Given the description of an element on the screen output the (x, y) to click on. 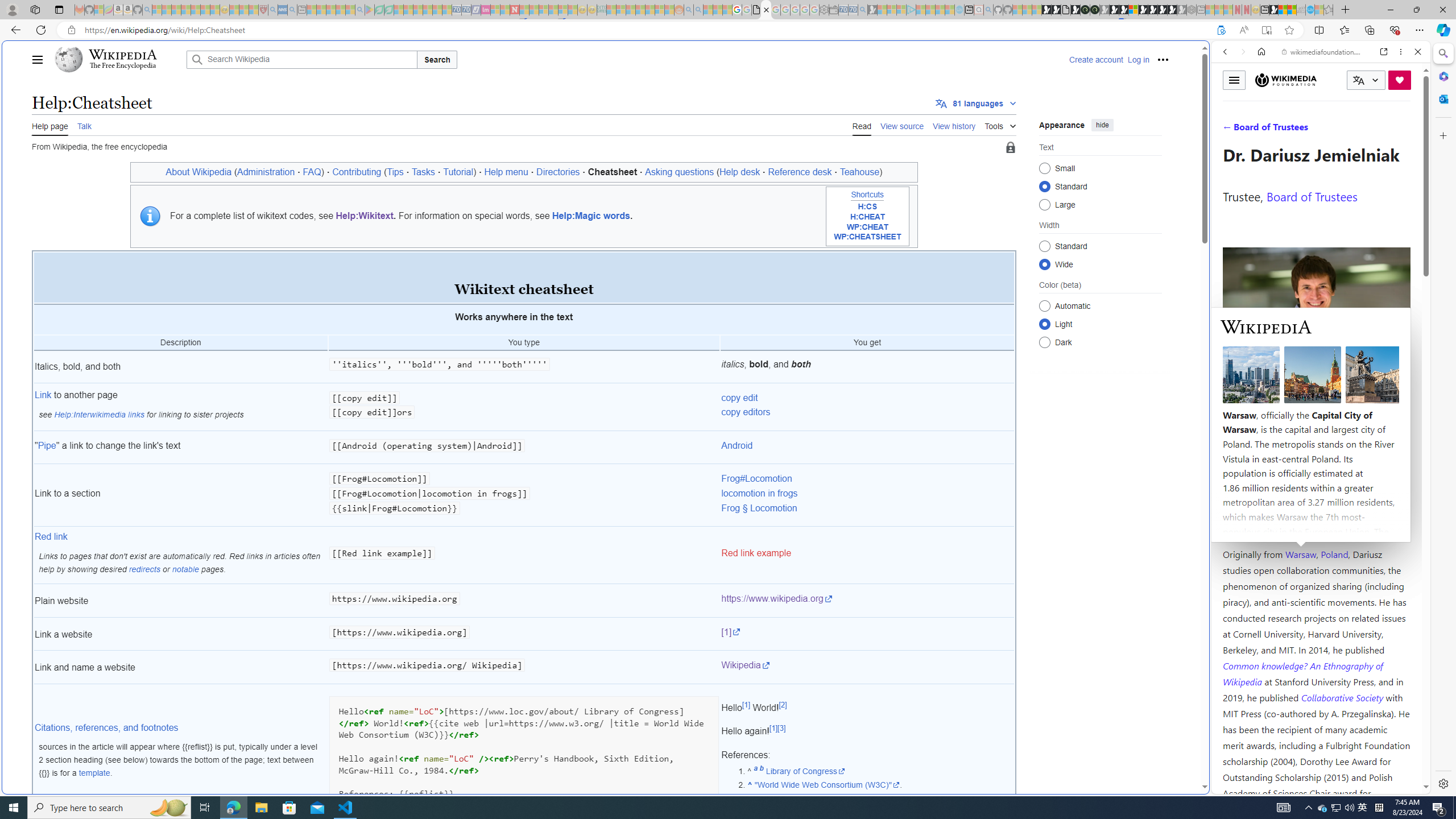
"World Wide Web Consortium (W3C)" (826, 785)
^ Perry's Handbook, Sixth Edition, McGraw-Hill Co., 1984. (879, 798)
H:CS (866, 206)
Android (736, 445)
Future Focus Report 2024 (1094, 9)
utah sues federal government - Search (922, 389)
Services - Maintenance | Sky Blue Bikes - Sky Blue Bikes (1309, 9)
